Given the description of an element on the screen output the (x, y) to click on. 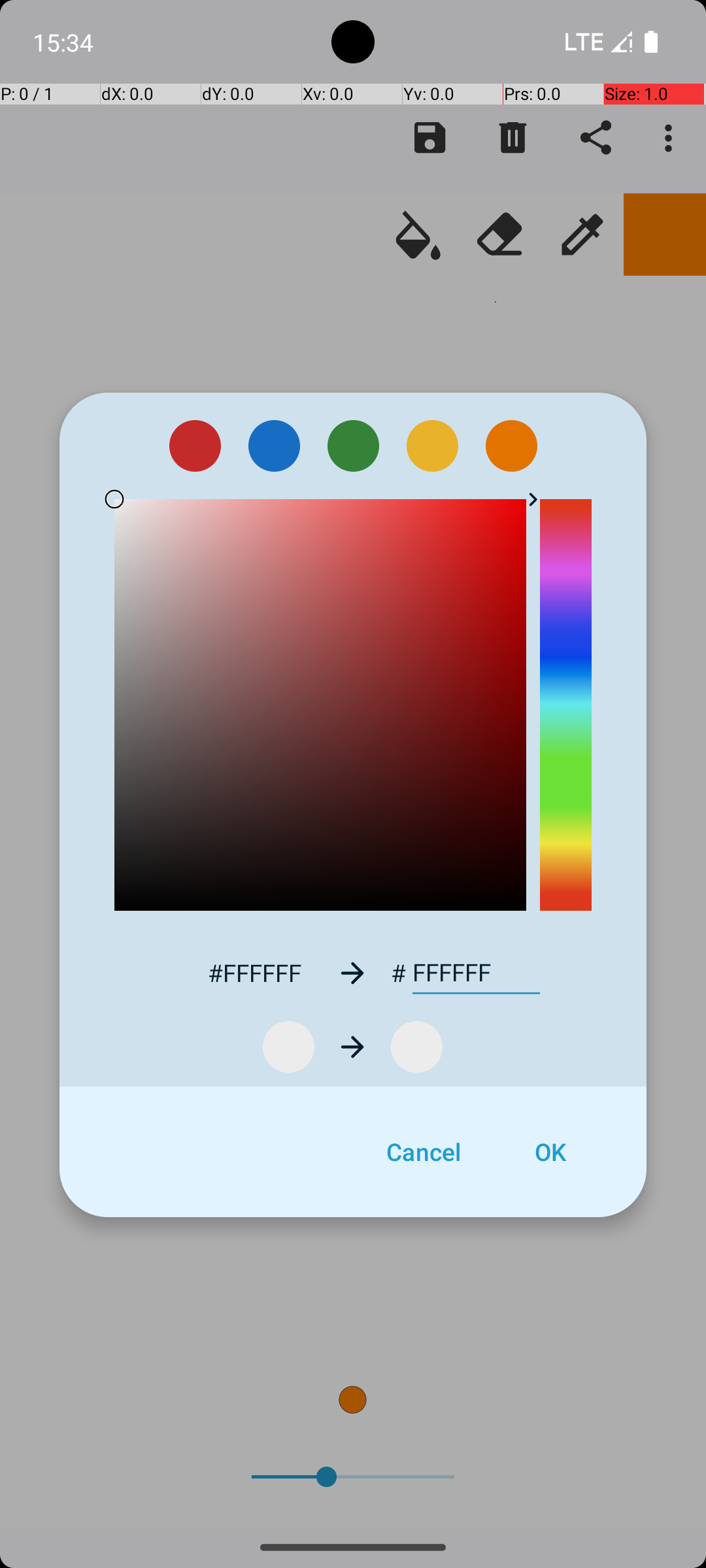
#FFFFFF Element type: android.widget.TextView (254, 972)
# Element type: android.widget.TextView (397, 972)
FFFFFF Element type: android.widget.EditText (475, 972)
